Given the description of an element on the screen output the (x, y) to click on. 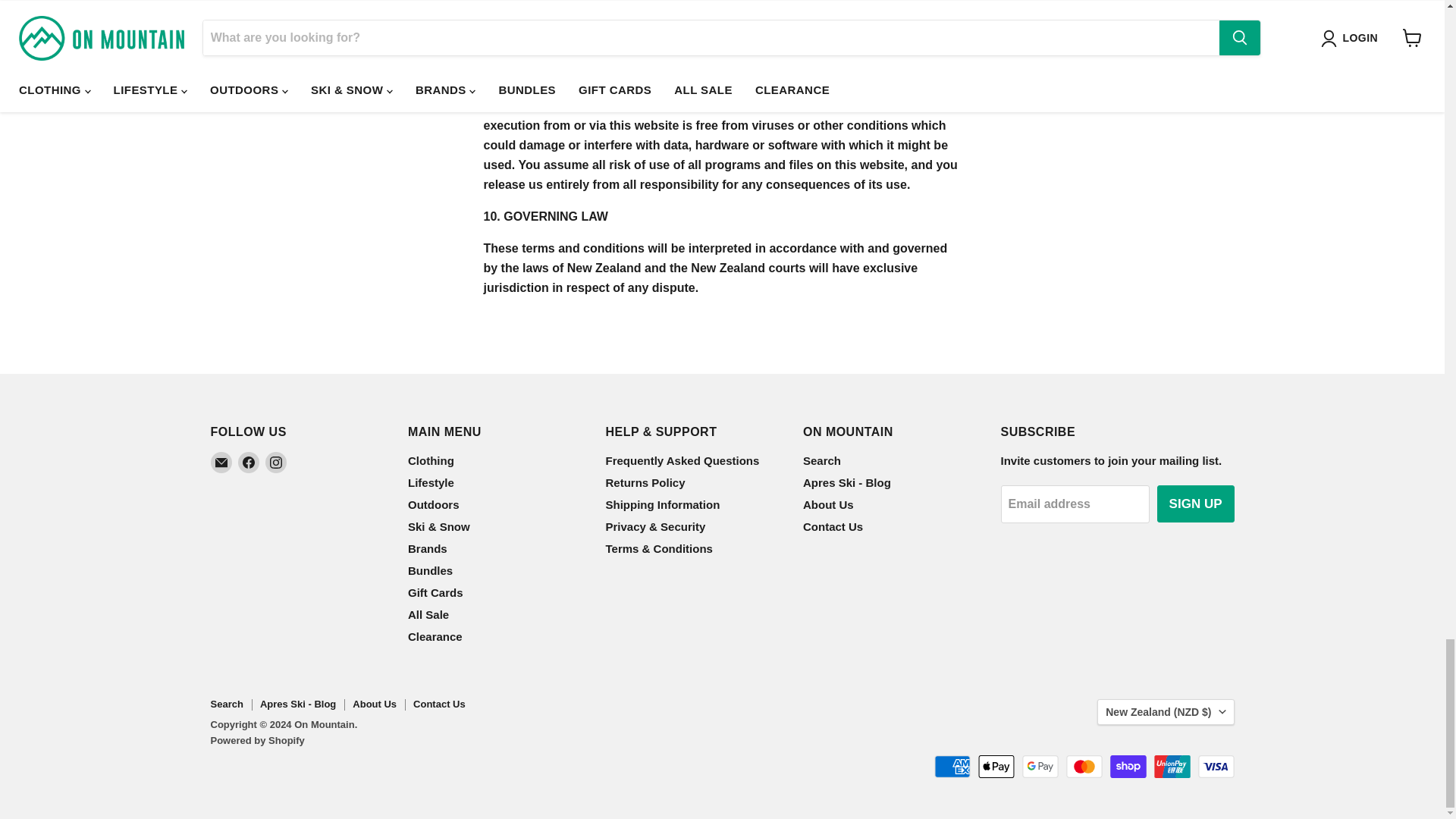
Email (221, 462)
American Express (952, 766)
Union Pay (1172, 766)
Apple Pay (996, 766)
Instagram (275, 462)
Mastercard (1083, 766)
Google Pay (1040, 766)
Shop Pay (1128, 766)
Visa (1216, 766)
Facebook (248, 462)
